Given the description of an element on the screen output the (x, y) to click on. 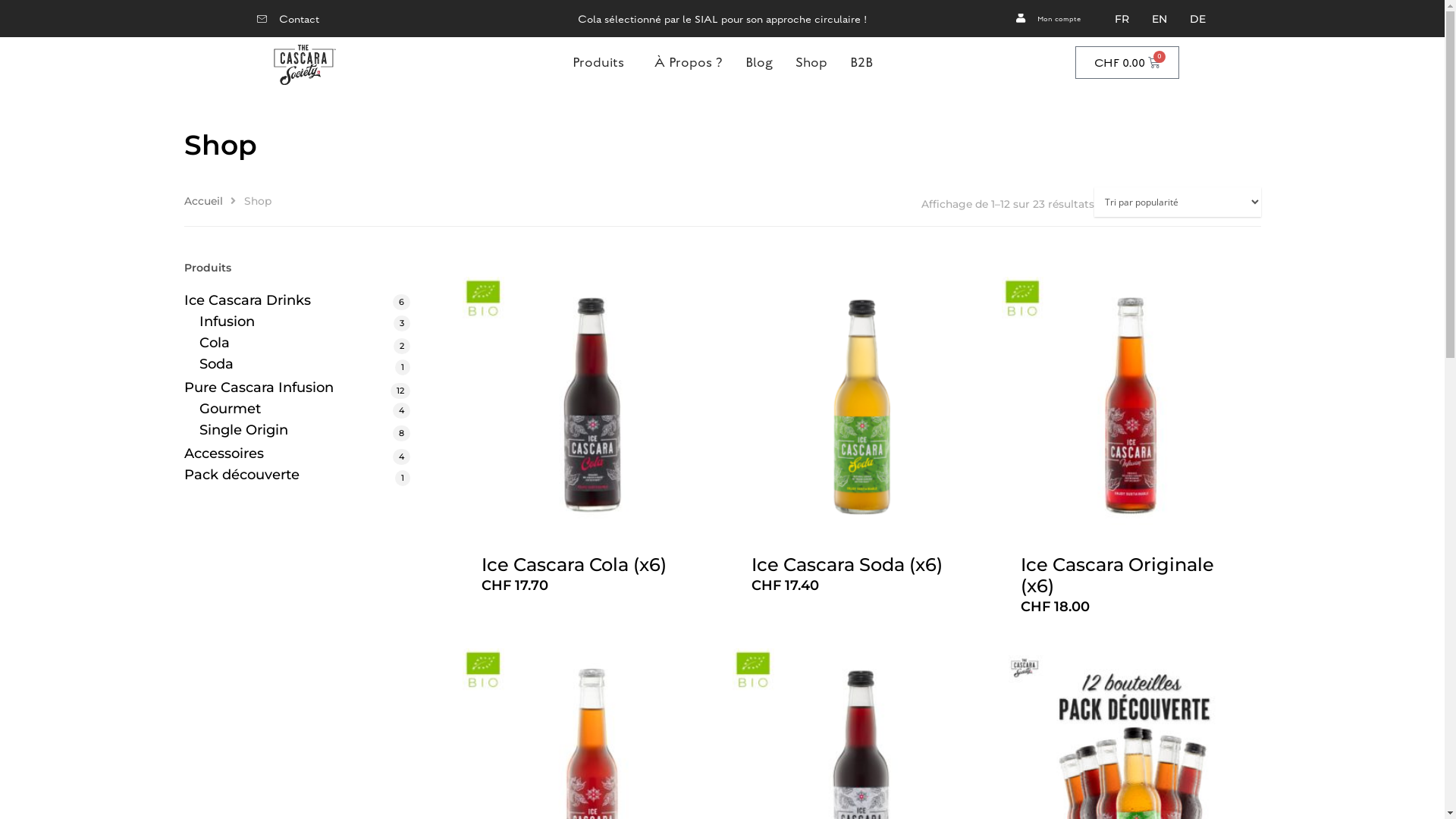
FR Element type: text (1121, 18)
Shop Element type: text (811, 62)
Blog Element type: text (759, 62)
Contact Element type: text (288, 19)
Ice Cascara Drinks Element type: text (296, 299)
B2B Element type: text (861, 62)
Pure Cascara Infusion Element type: text (296, 387)
Ice Cascara Soda (x6) Element type: text (861, 565)
Gourmet Element type: text (303, 408)
Soda Element type: text (303, 363)
Accessoires Element type: text (296, 453)
CHF 0.00
0 Element type: text (1127, 62)
LOGO_THE_CASCARA_SOCIETY_noir_rouge_600px_NoBorder Element type: hover (303, 64)
Ice Cascara Cola (x6) Element type: text (591, 565)
Accueil Element type: text (202, 200)
DE Element type: text (1197, 18)
Produits Element type: text (602, 62)
Infusion Element type: text (303, 321)
Mon compte Element type: text (1046, 18)
Single Origin Element type: text (303, 429)
Cola Element type: text (303, 342)
EN Element type: text (1159, 18)
Ice Cascara Originale (x6) Element type: text (1130, 576)
